Given the description of an element on the screen output the (x, y) to click on. 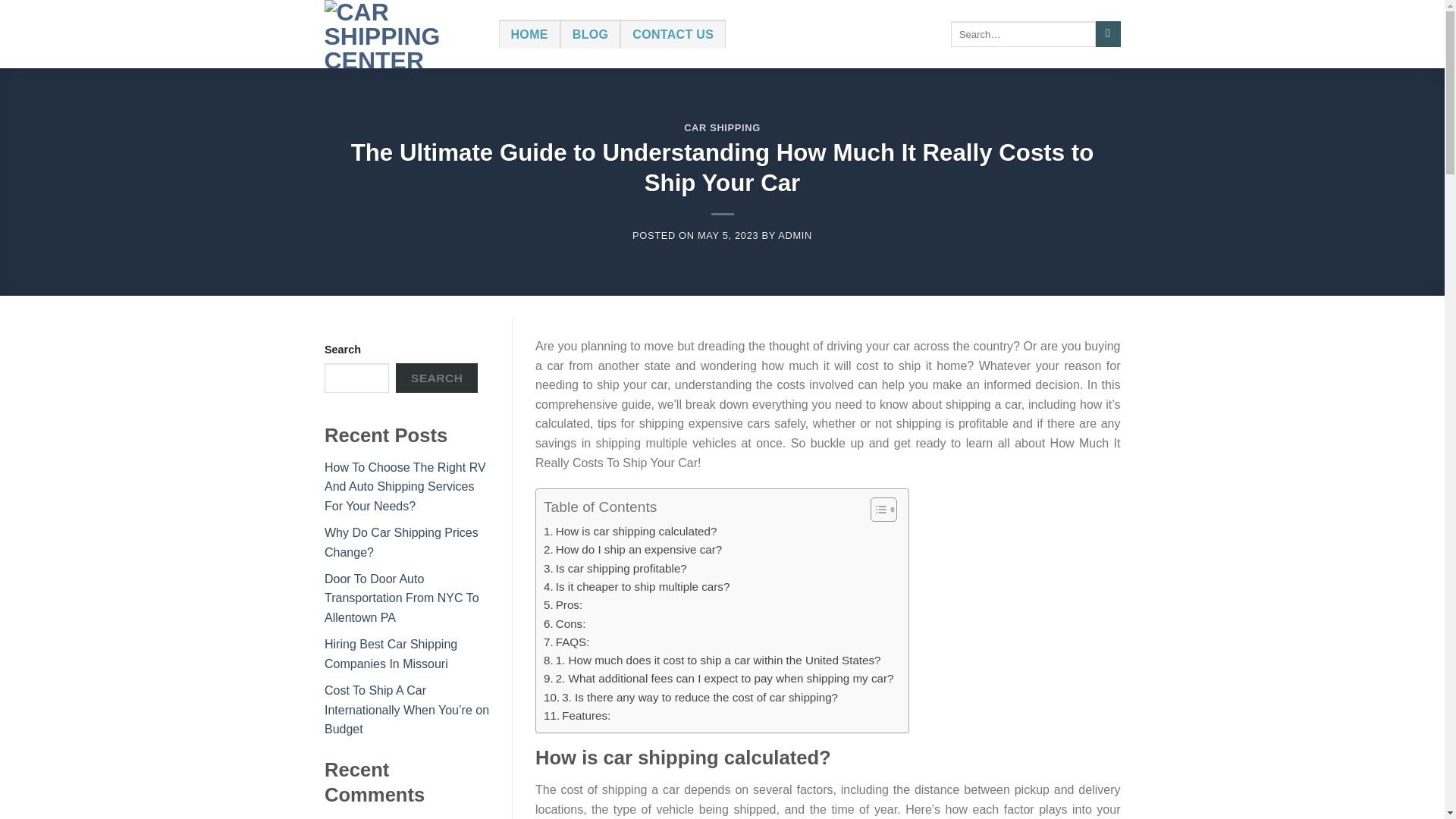
ADMIN (794, 235)
FAQS: (566, 642)
Car Shipping Center Blog (400, 33)
FAQS: (566, 642)
Features: (576, 715)
CONTACT US (672, 33)
Pros: (562, 605)
3. Is there any way to reduce the cost of car shipping? (690, 697)
Pros: (562, 605)
